Given the description of an element on the screen output the (x, y) to click on. 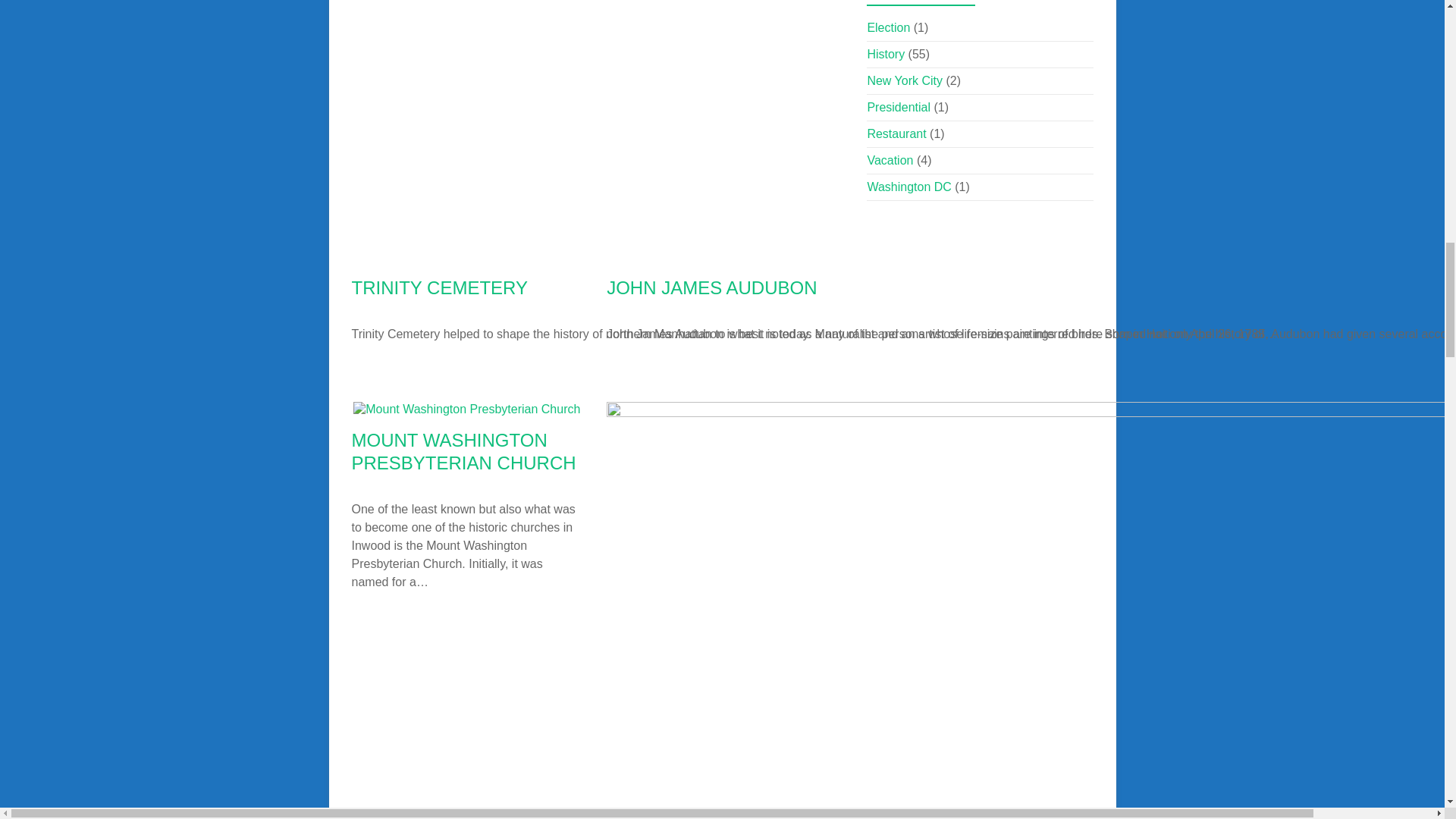
Trinity Cemetery (837, 256)
Mount Washington Presbyterian Church (466, 408)
TRINITY CEMETERY (439, 287)
MOUNT WASHINGTON PRESBYTERIAN CHURCH (464, 451)
JOHN JAMES AUDUBON (711, 287)
